Given the description of an element on the screen output the (x, y) to click on. 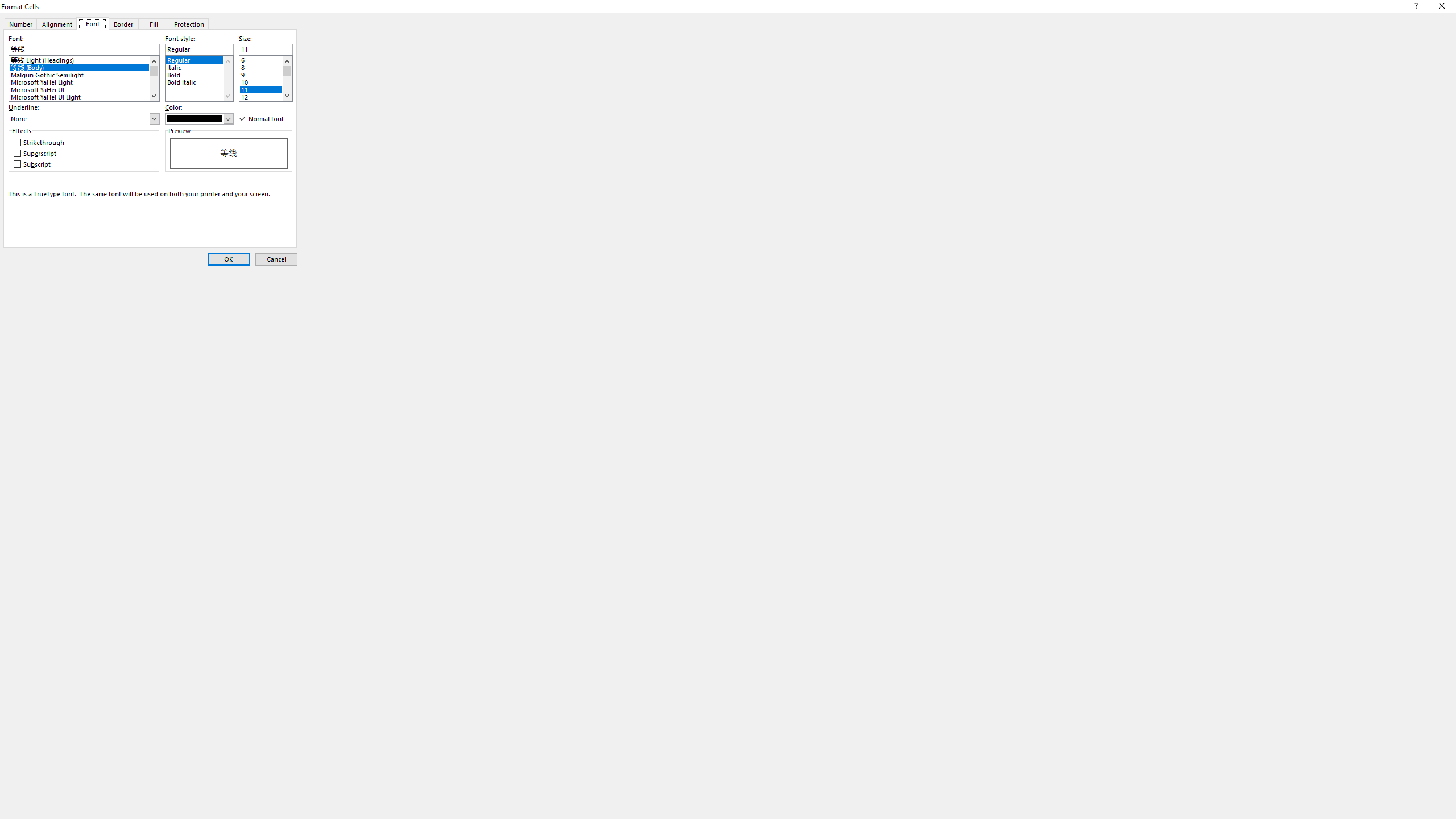
Page down (286, 82)
8 (265, 65)
Alignment (56, 23)
Fill (153, 23)
Italic (199, 65)
Microsoft YaHei Light (84, 80)
Context help (1415, 8)
Size: (265, 48)
9 (265, 72)
Regular (199, 58)
AutomationID: 4668 (153, 78)
Normal font (261, 118)
Font: (84, 48)
